Given the description of an element on the screen output the (x, y) to click on. 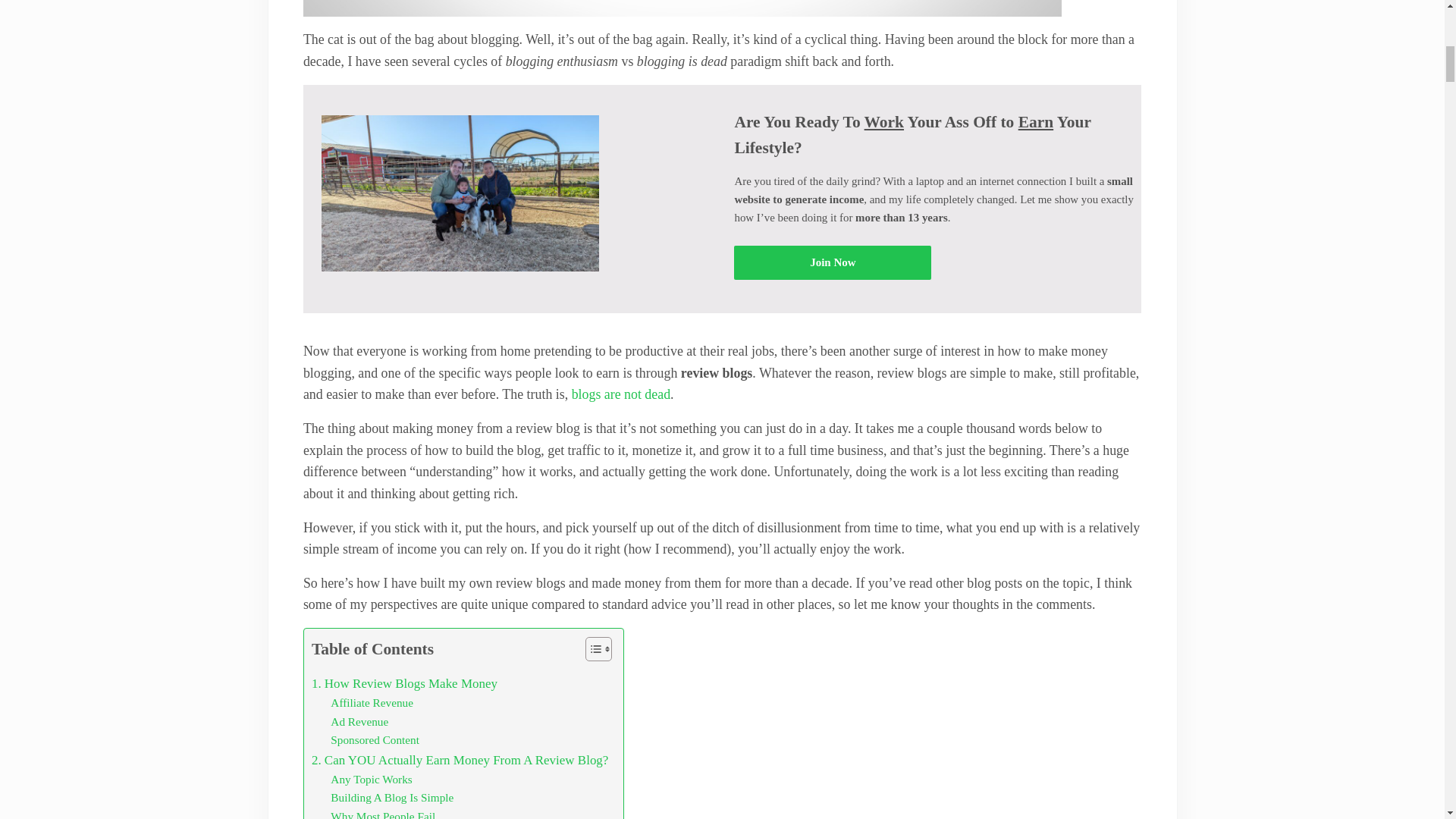
blogs are not dead (620, 394)
Sponsored Content (374, 740)
1. How Review Blogs Make Money (404, 683)
Ad Revenue (359, 721)
Are Blogs Dead? (620, 394)
Ad Revenue (359, 721)
Join Now (832, 262)
Why Most People Fail (382, 813)
Any Topic Works (371, 779)
Sponsored Content (374, 740)
familyfarmphoto (459, 193)
2. Can YOU Actually Earn Money From A Review Blog? (459, 760)
Building A Blog Is Simple (391, 797)
2. Can YOU Actually Earn Money From A Review Blog? (459, 760)
1. How Review Blogs Make Money (404, 683)
